Given the description of an element on the screen output the (x, y) to click on. 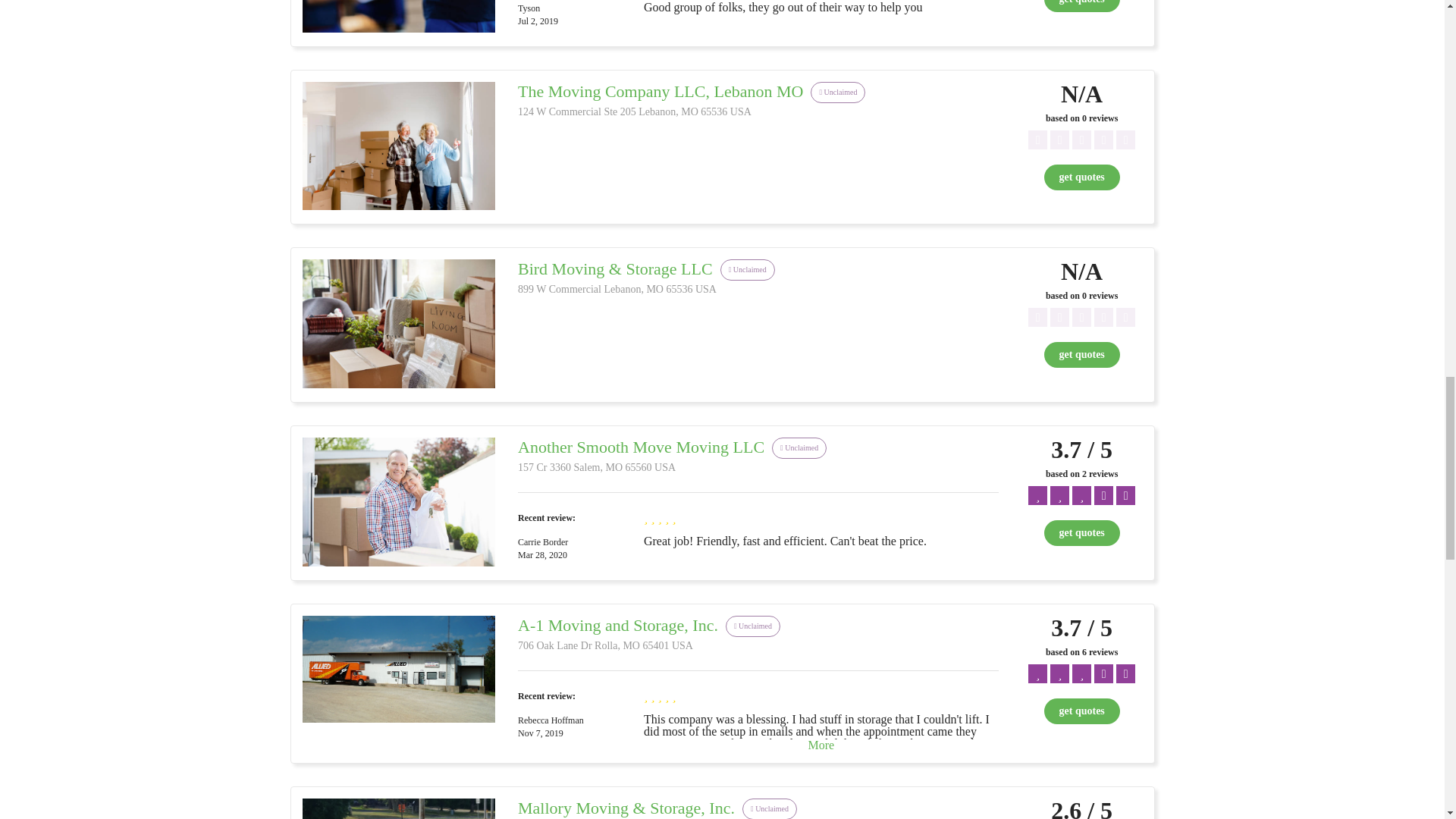
get quotes (1081, 533)
Unclaimed (837, 91)
get quotes (1081, 354)
get quotes (1081, 710)
get quotes (1081, 6)
Unclaimed (752, 625)
Unclaimed (770, 808)
Unclaimed (748, 269)
get quotes (1081, 6)
Unclaimed (799, 447)
